Given the description of an element on the screen output the (x, y) to click on. 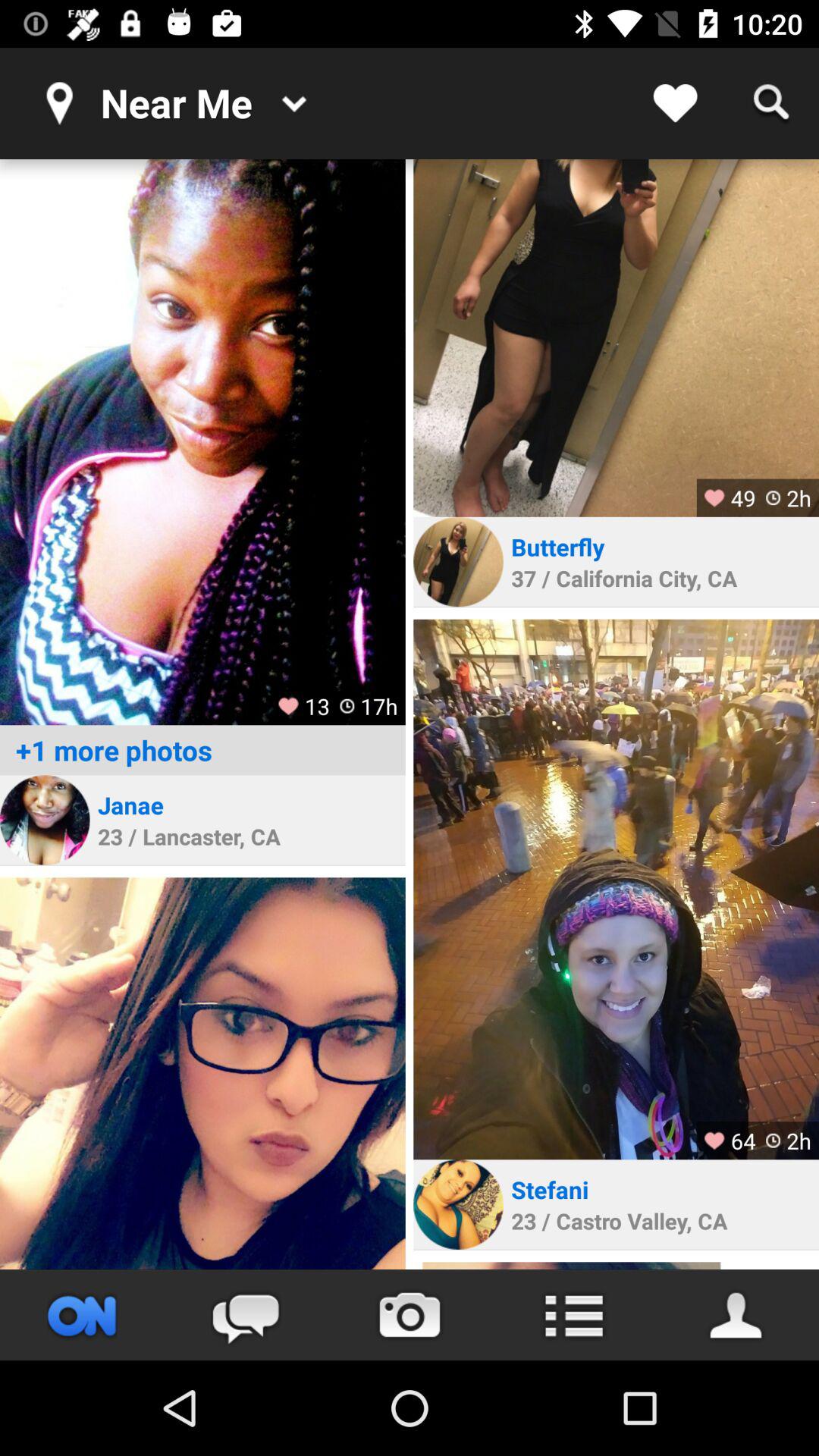
jump until janae icon (130, 804)
